Given the description of an element on the screen output the (x, y) to click on. 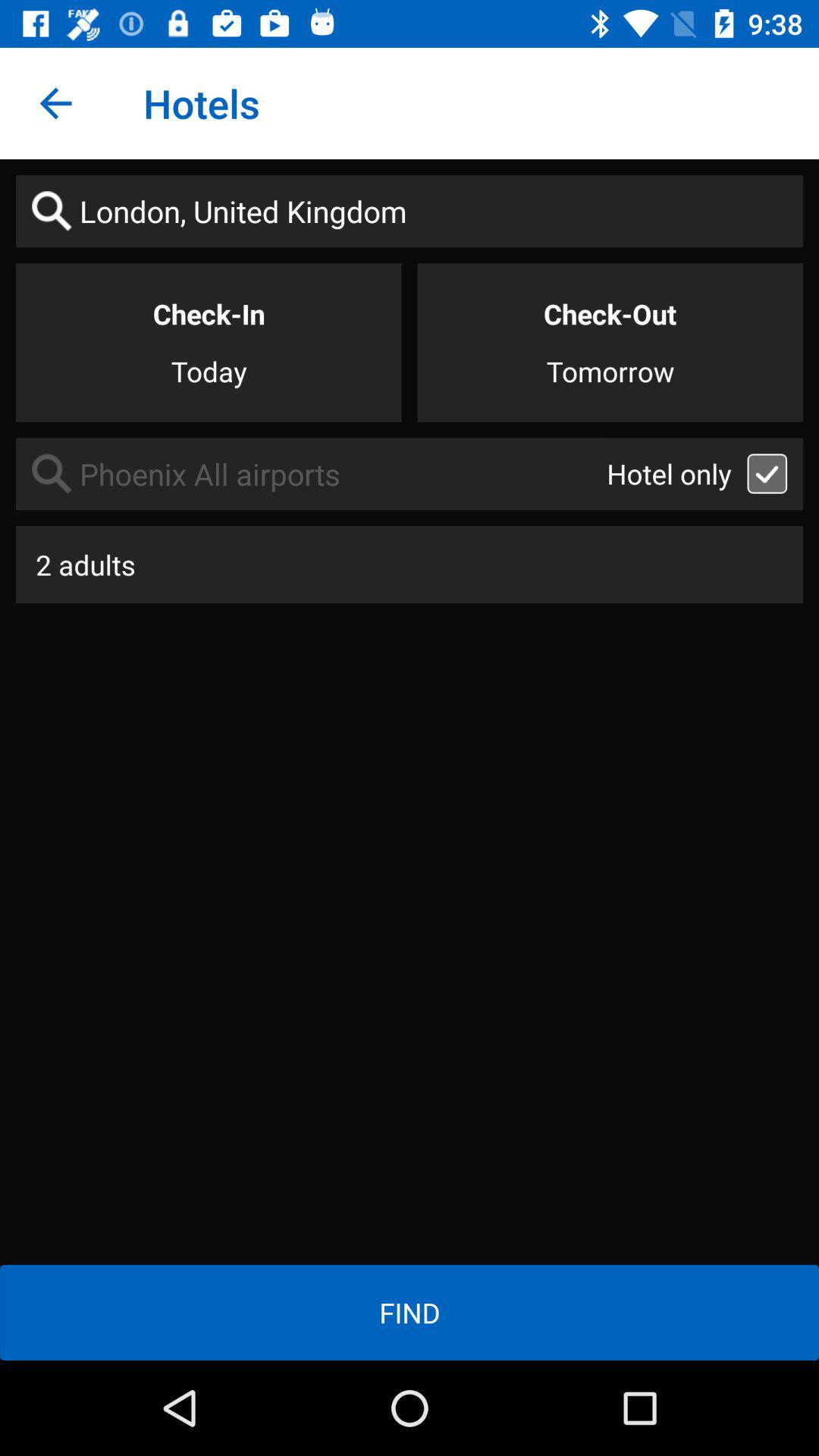
click item to the left of the hotels icon (55, 103)
